Given the description of an element on the screen output the (x, y) to click on. 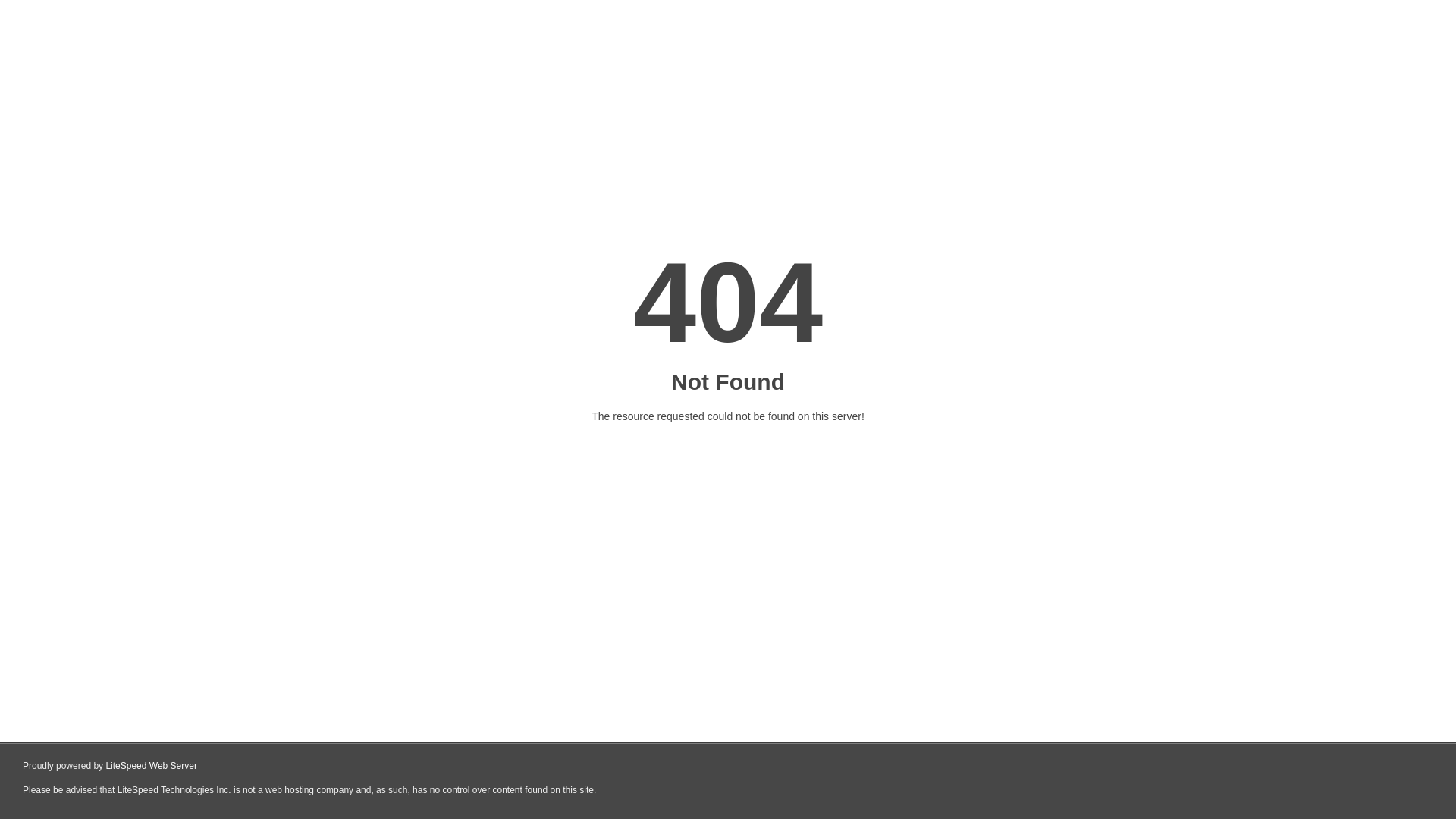
LiteSpeed Web Server Element type: text (151, 765)
